Given the description of an element on the screen output the (x, y) to click on. 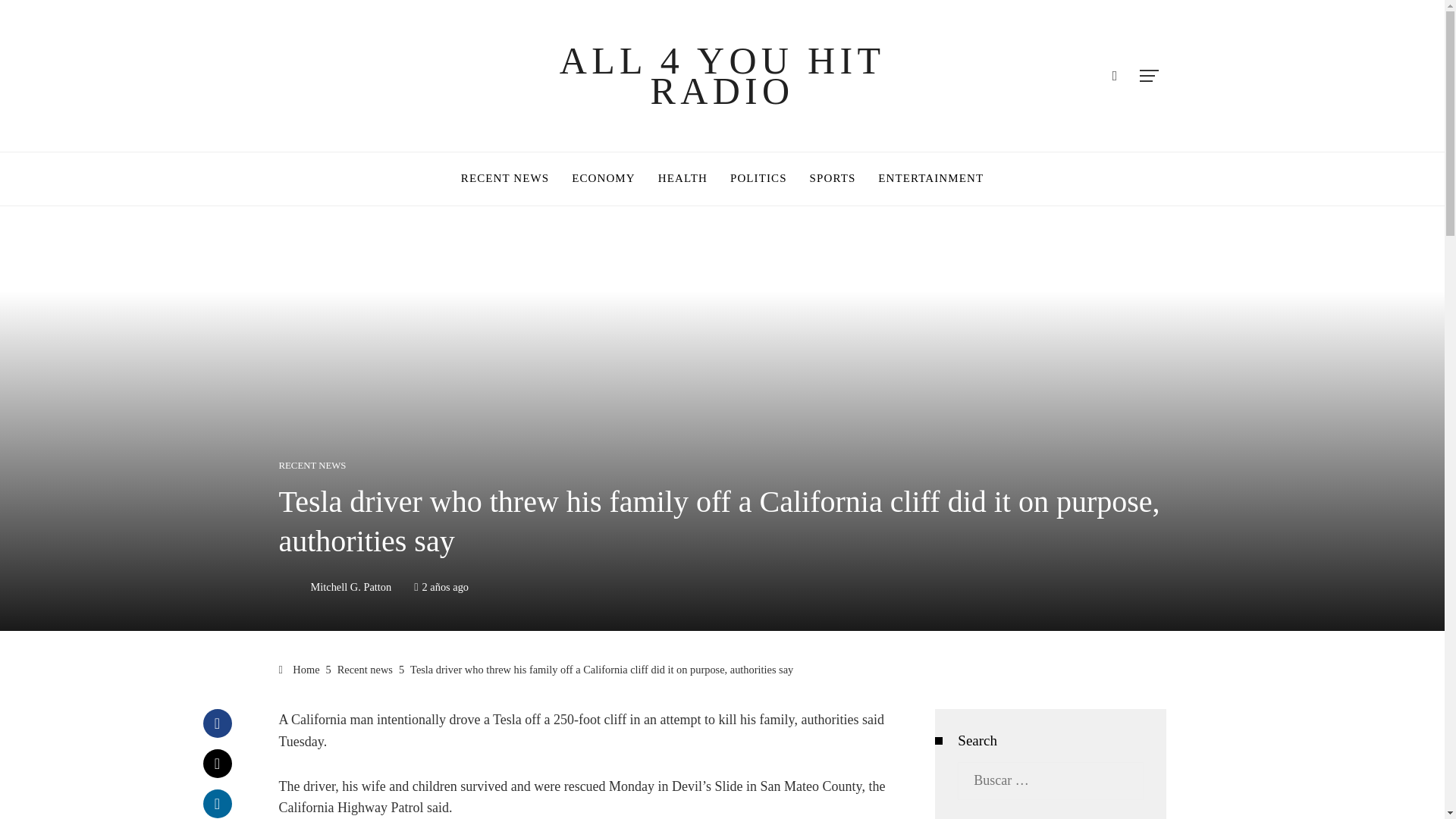
ALL 4 YOU HIT RADIO (722, 75)
Recent news (365, 669)
HEALTH (682, 178)
Twitter (217, 763)
ENTERTAINMENT (930, 178)
SPORTS (832, 178)
ECONOMY (603, 178)
LinkedIn (217, 803)
POLITICS (758, 178)
Facebook (217, 723)
